Given the description of an element on the screen output the (x, y) to click on. 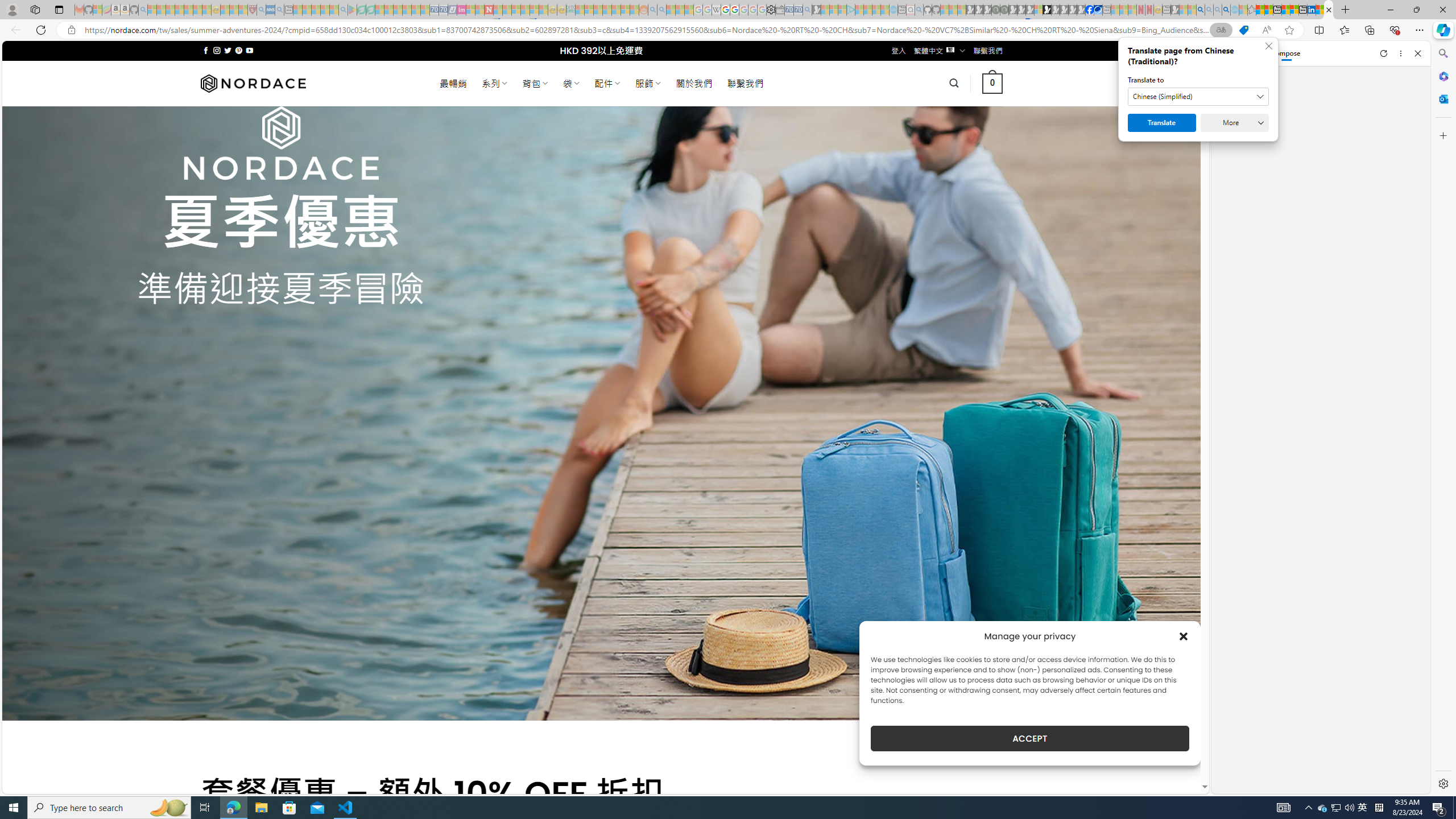
Local - MSN - Sleeping (242, 9)
Kinda Frugal - MSN - Sleeping (616, 9)
Microsoft Start Gaming - Sleeping (815, 9)
More (1234, 122)
